Given the description of an element on the screen output the (x, y) to click on. 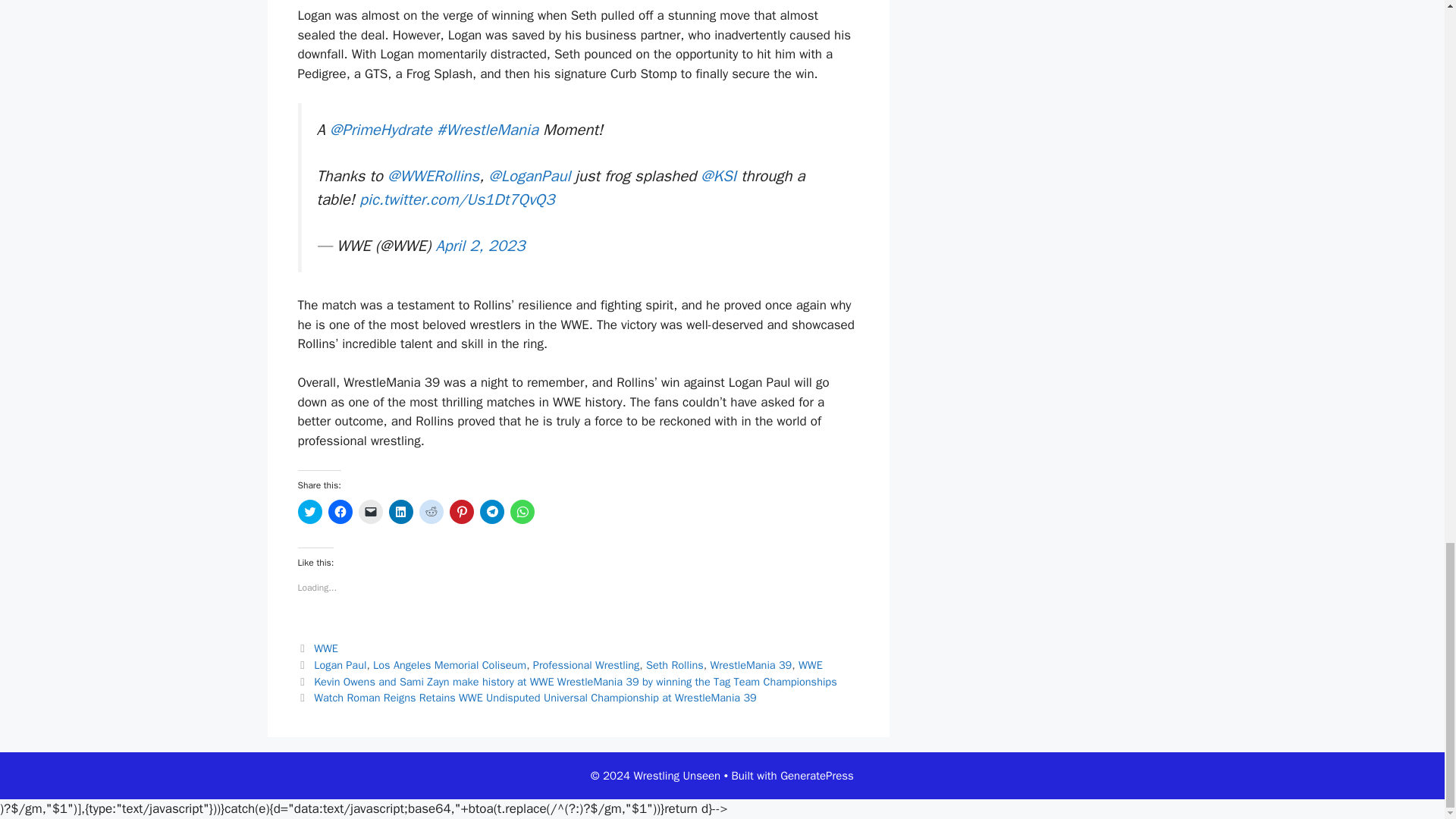
Click to share on LinkedIn (400, 511)
Click to share on Twitter (309, 511)
Seth Rollins (674, 664)
WrestleMania 39 (751, 664)
Logan Paul (340, 664)
April 2, 2023 (479, 245)
Click to share on Telegram (491, 511)
Click to share on Facebook (339, 511)
Click to share on WhatsApp (521, 511)
